Given the description of an element on the screen output the (x, y) to click on. 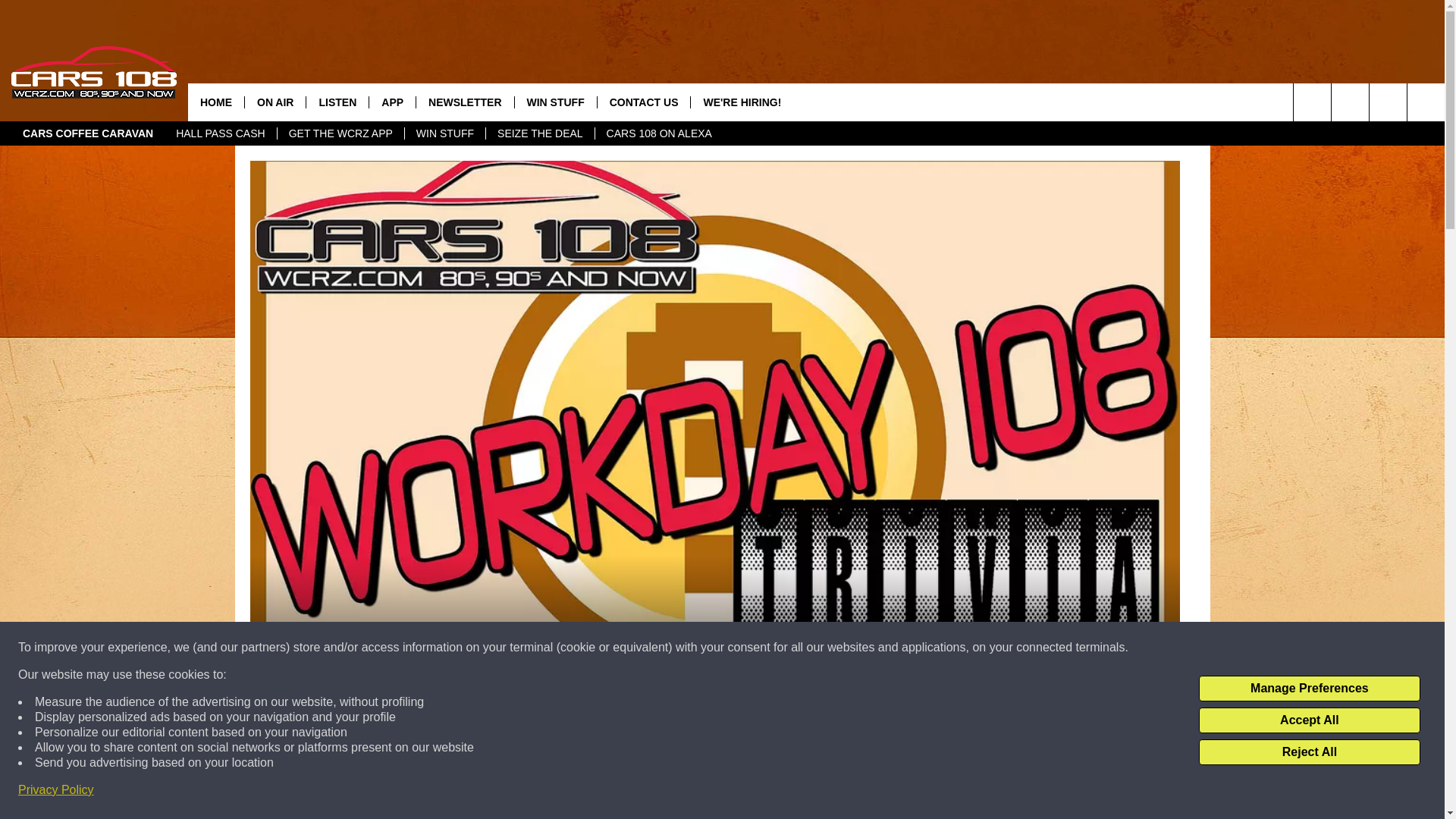
WE'RE HIRING! (741, 102)
NEWSLETTER (463, 102)
CARS 108 ON ALEXA (658, 133)
CARS COFFEE CARAVAN (87, 133)
WIN STUFF (444, 133)
ON AIR (274, 102)
GET THE WCRZ APP (340, 133)
WIN STUFF (554, 102)
Reject All (1309, 751)
Share on Facebook (517, 791)
Share on Twitter (912, 791)
LISTEN (336, 102)
CONTACT US (643, 102)
HOME (215, 102)
Privacy Policy (55, 789)
